Given the description of an element on the screen output the (x, y) to click on. 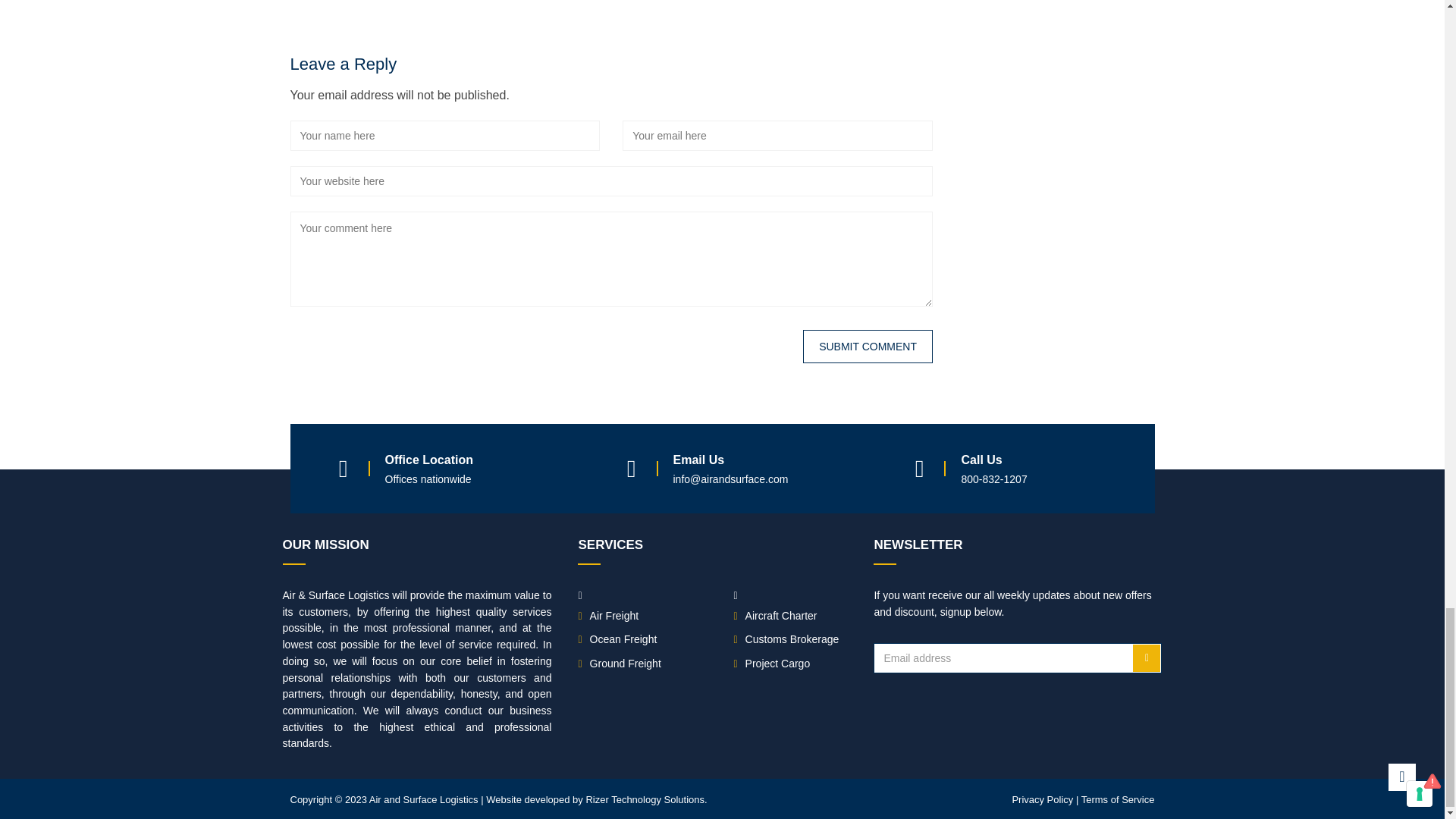
Submit Comment (868, 346)
